Given the description of an element on the screen output the (x, y) to click on. 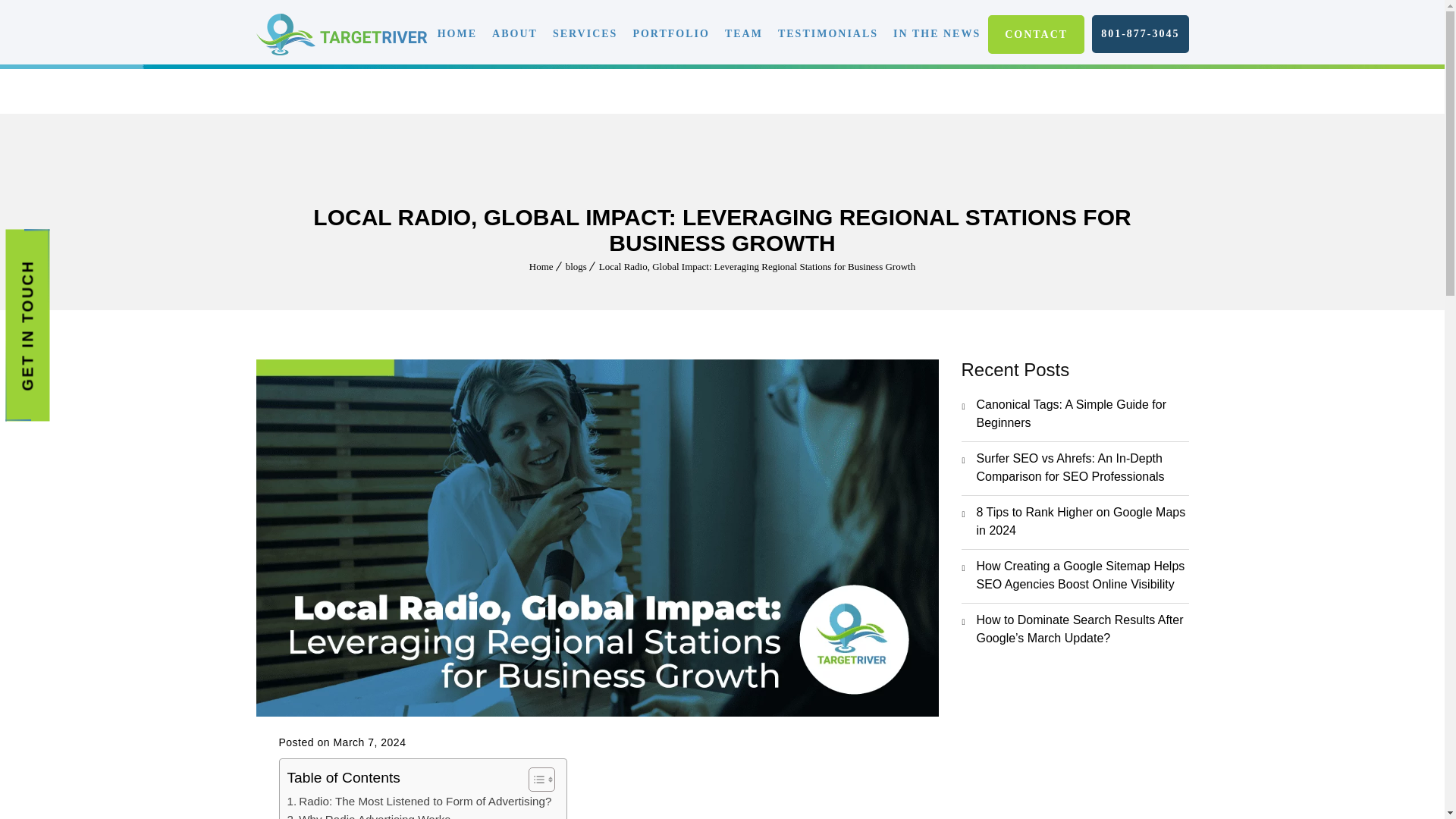
IN THE NEWS (936, 33)
blogs (576, 266)
ABOUT (514, 33)
801-877-3045 (1139, 34)
Radio: The Most Listened to Form of Advertising? (418, 801)
8 Tips to Rank Higher on Google Maps in 2024 (1082, 521)
targetriver.com (342, 34)
Why Radio Advertising Works (367, 814)
Radio: The Most Listened to Form of Advertising? (418, 801)
